Given the description of an element on the screen output the (x, y) to click on. 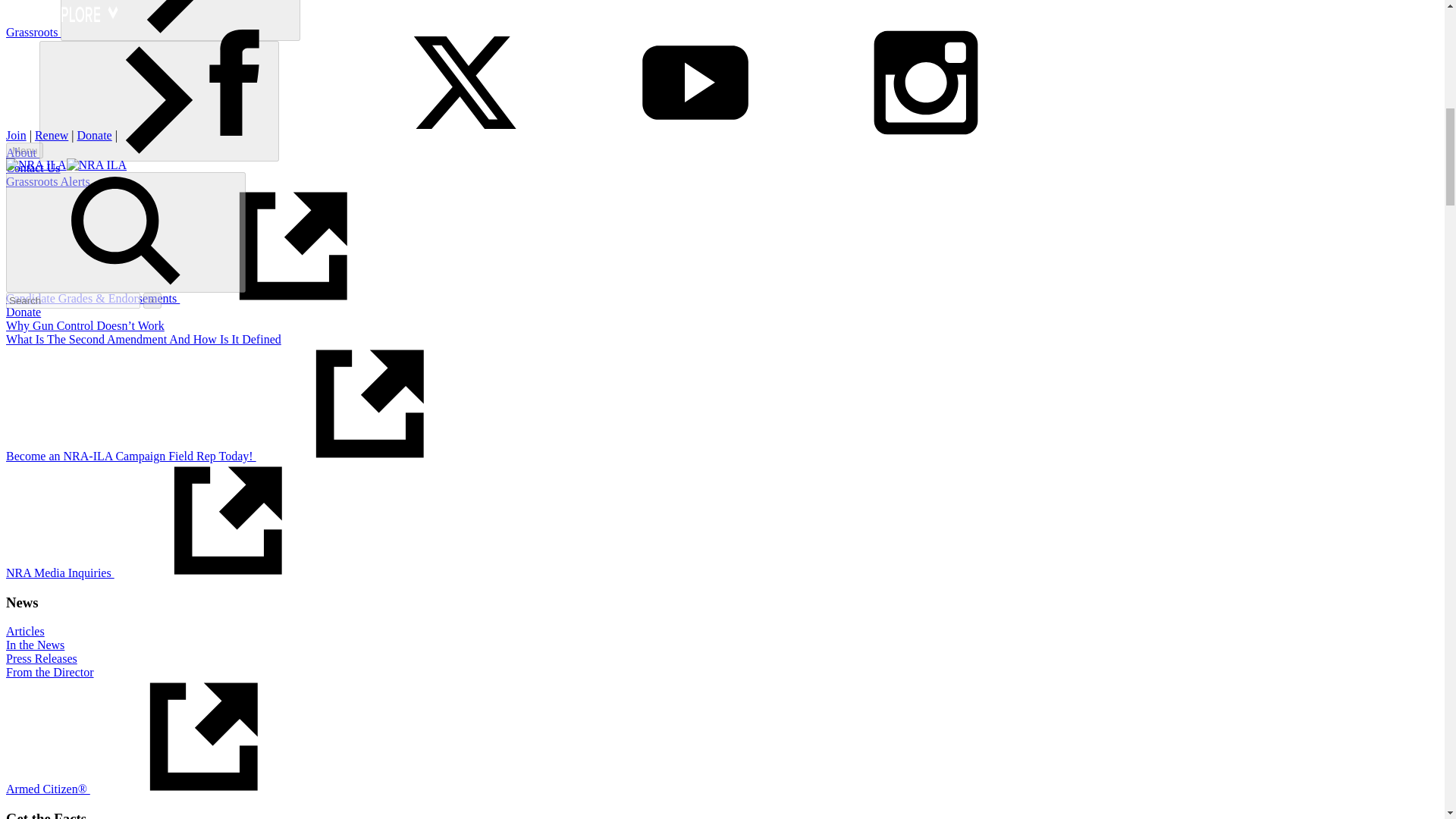
What Is The Second Amendment And How Is It Defined (143, 338)
Become an NRA-ILA Campaign Field Rep Today! (244, 455)
In the News (34, 644)
Articles (25, 631)
Press Releases (41, 658)
Grassroots Alerts (47, 181)
Grassroots (33, 31)
Donate (22, 311)
From the Director (49, 671)
NRA Media Inquiries (173, 572)
About (22, 152)
Contact Us (33, 167)
